Given the description of an element on the screen output the (x, y) to click on. 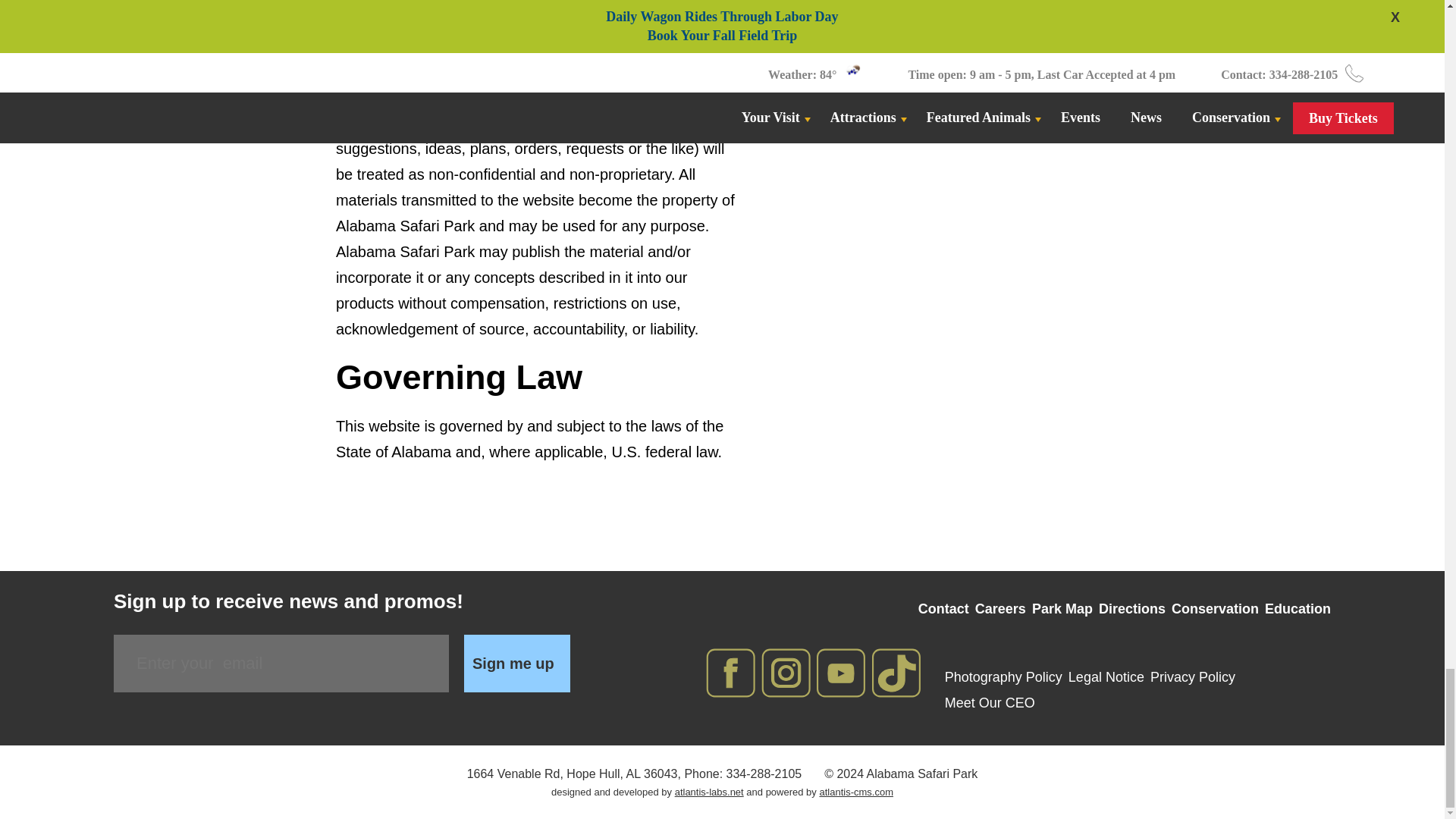
Sign me up (517, 663)
Careers (1000, 608)
Contact (943, 608)
Sign me up (517, 663)
